Given the description of an element on the screen output the (x, y) to click on. 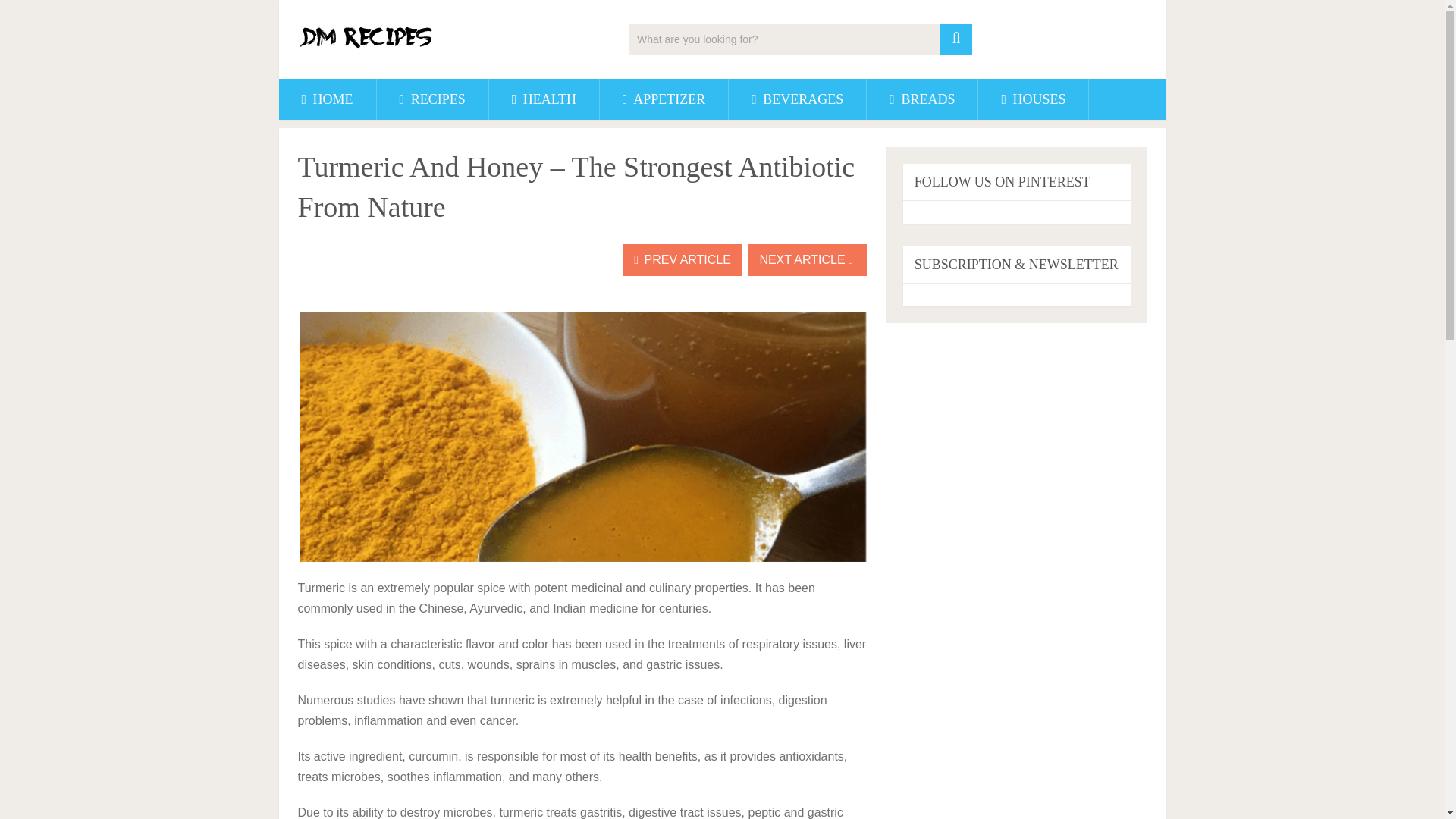
APPETIZER (663, 98)
BEVERAGES (797, 98)
PREV ARTICLE (682, 260)
HOUSES (1032, 98)
NEXT ARTICLE (807, 260)
RECIPES (432, 98)
BREADS (921, 98)
HEALTH (543, 98)
HOME (327, 98)
